Given the description of an element on the screen output the (x, y) to click on. 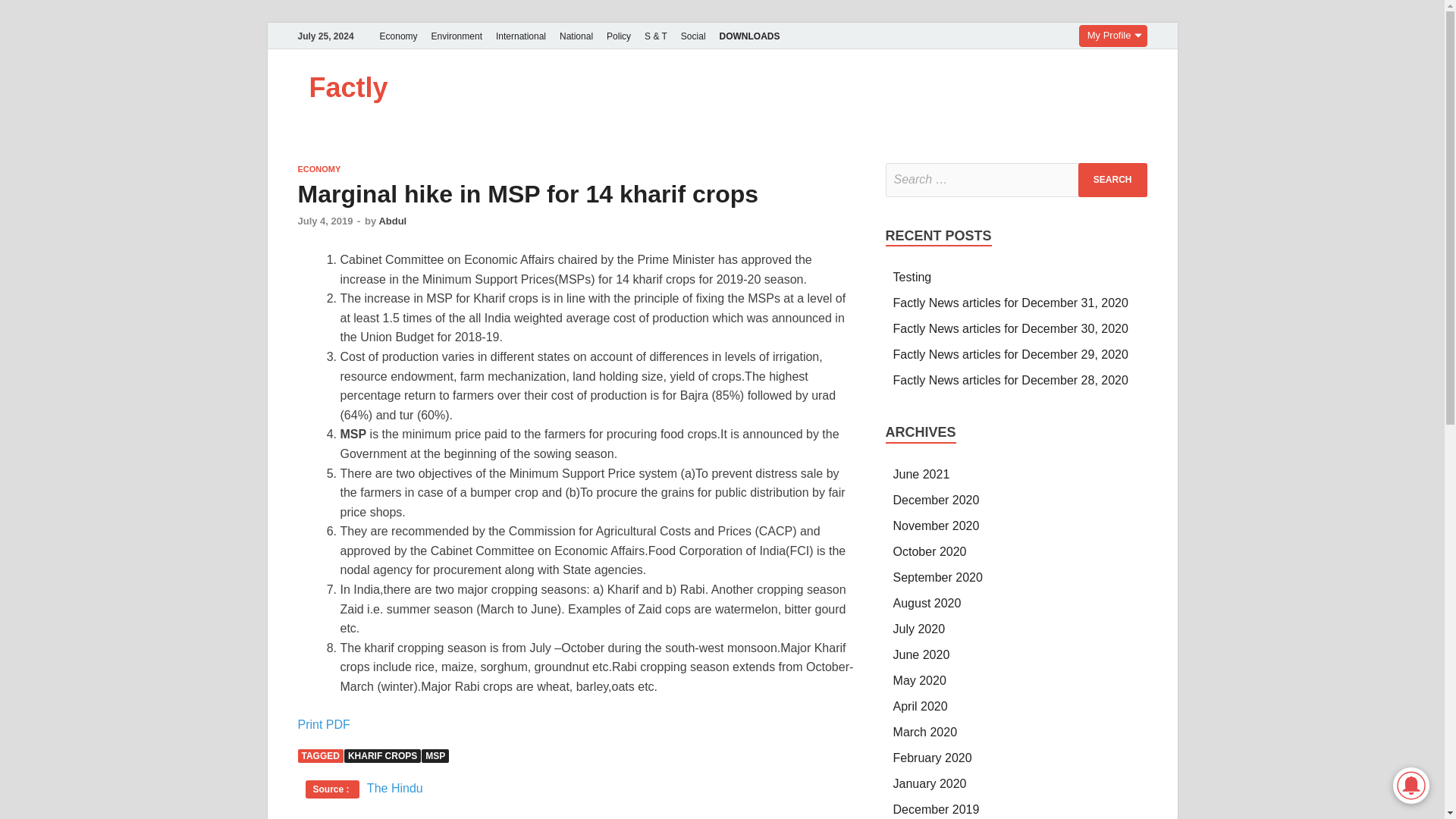
MSP (435, 755)
July 4, 2019 (324, 220)
Environment (457, 35)
Print PDF (323, 724)
Search (1112, 179)
National (576, 35)
Social (693, 35)
KHARIF CROPS (381, 755)
DOWNLOADS (750, 35)
Policy (618, 35)
Factly (348, 87)
The Hindu (394, 788)
Abdul (392, 220)
ECONOMY (318, 168)
Economy (398, 35)
